Given the description of an element on the screen output the (x, y) to click on. 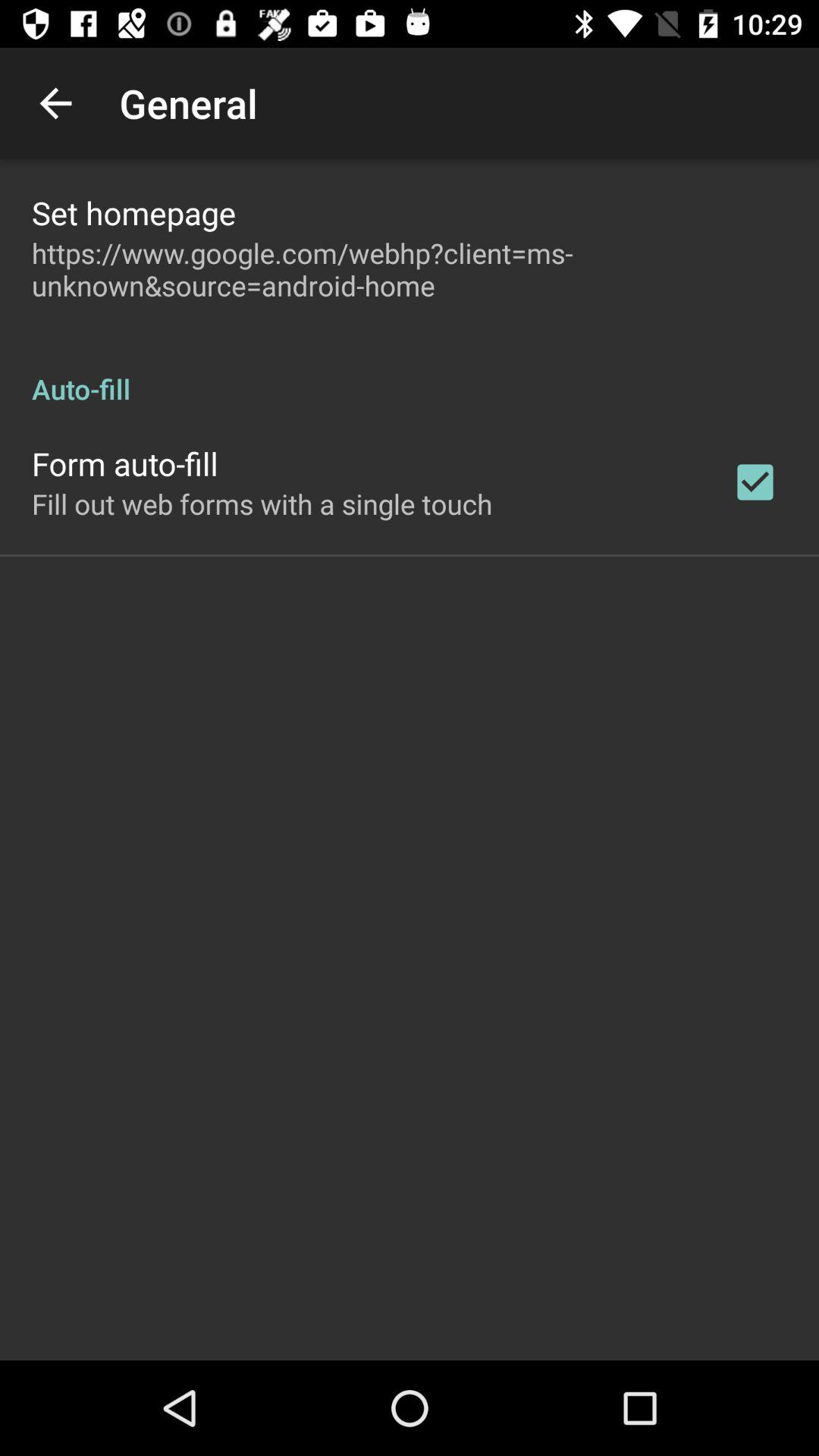
turn on the icon to the left of general item (55, 103)
